Given the description of an element on the screen output the (x, y) to click on. 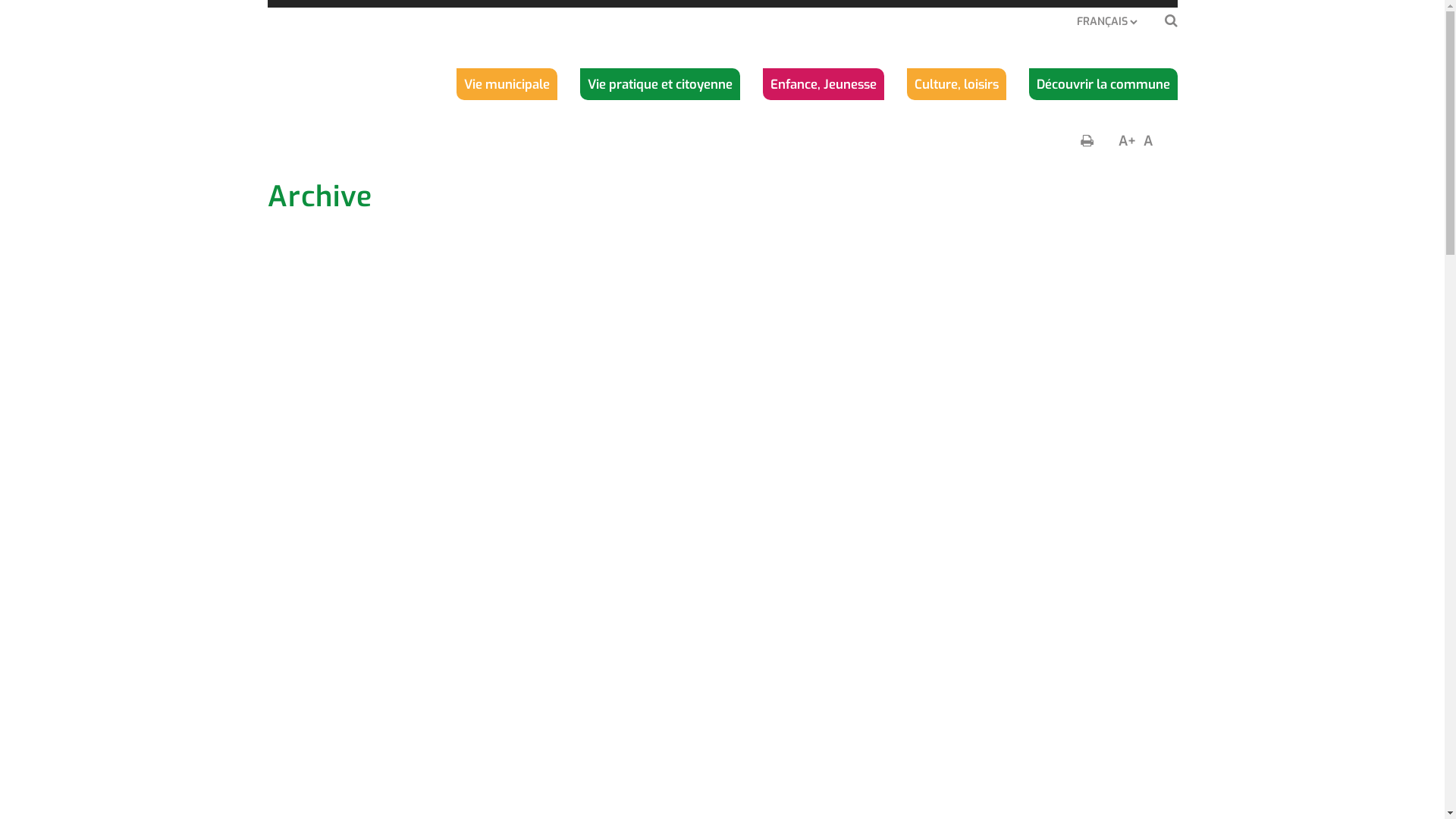
Enfance, Jeunesse Element type: text (823, 84)
Contacter
la Mairie Element type: text (942, 699)
Culture, loisirs Element type: text (956, 84)
mairie@saint-thegonnec-loc-eguiner.bzh Element type: text (400, 732)
A Element type: text (1147, 140)
Retrouvez-nous sur Facebook Element type: text (1074, 762)
OK Element type: text (1159, 618)
Vie pratique et citoyenne Element type: text (659, 84)
Vie municipale Element type: text (506, 84)
A+ Element type: text (1126, 140)
